Given the description of an element on the screen output the (x, y) to click on. 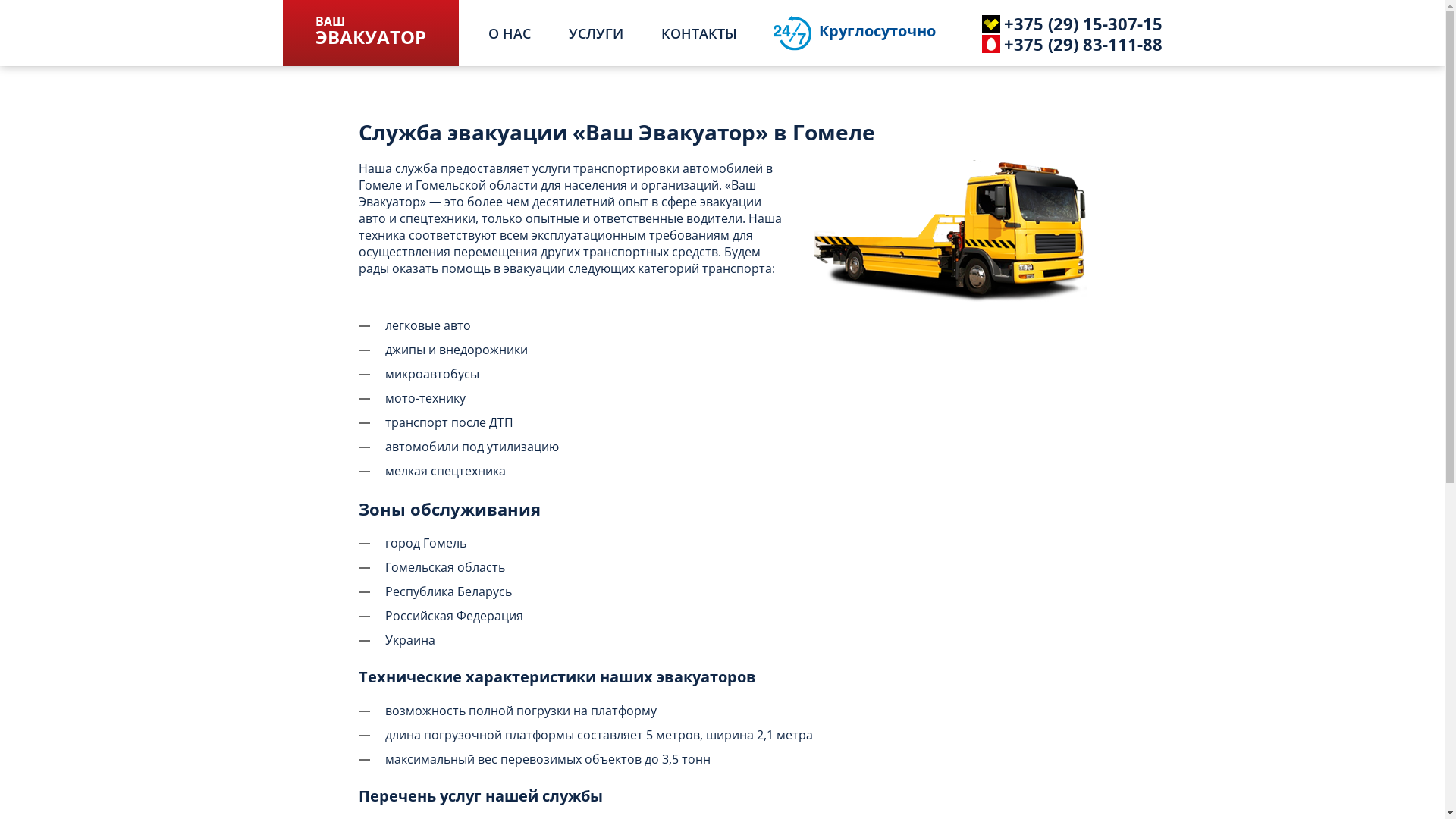
+375 (29) 83-111-88 Element type: text (1051, 43)
+375 (29) 15-307-15 Element type: text (1051, 22)
